Given the description of an element on the screen output the (x, y) to click on. 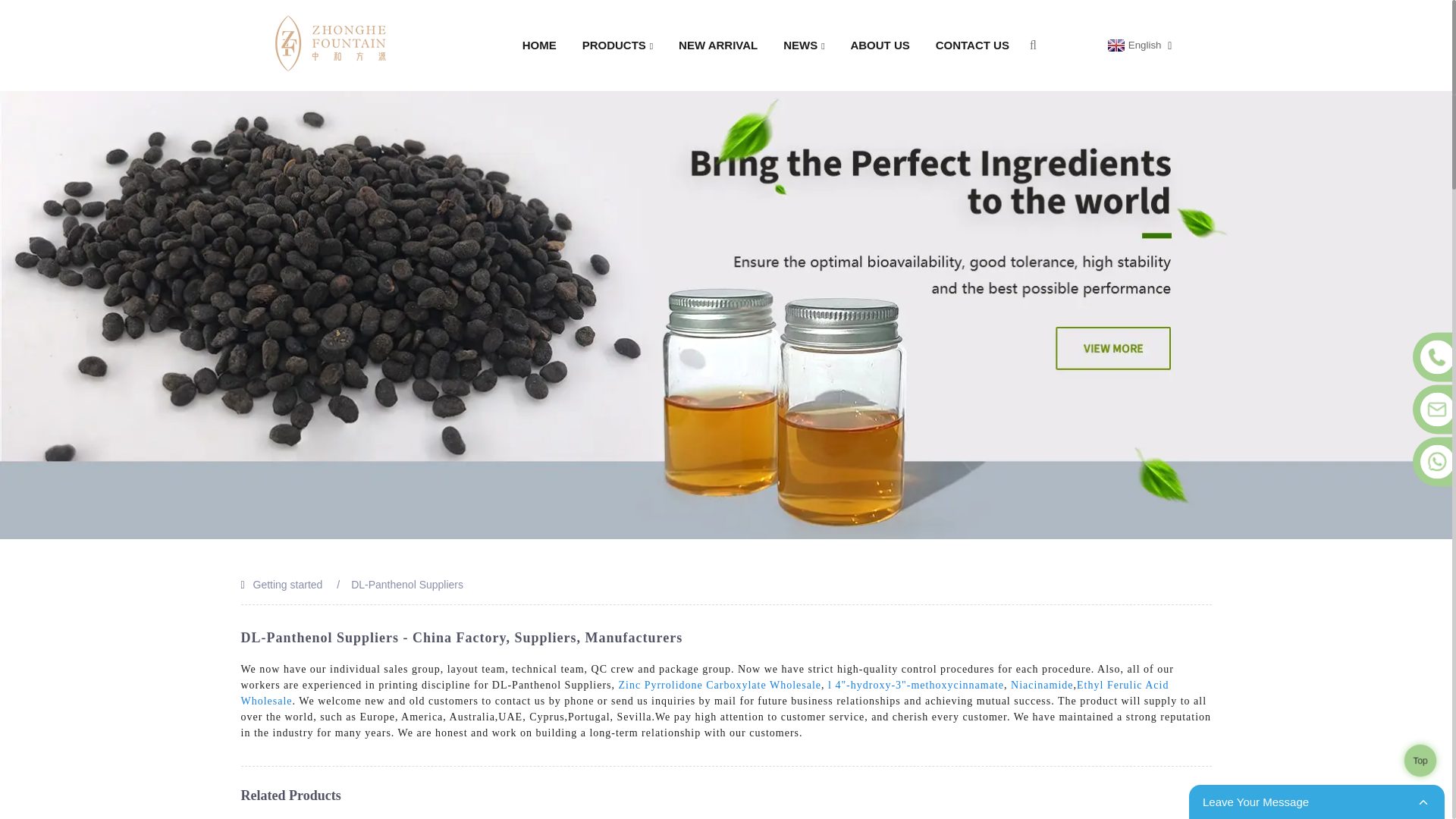
Ethyl Ferulic Acid Wholesale (705, 692)
English (1132, 45)
Niacinamide (1042, 685)
Zinc Pyrrolidone Carboxylate Wholesale (720, 685)
NEW ARRIVAL (717, 44)
Ethyl Ferulic Acid Wholesale (705, 692)
Zinc Pyrrolidone Carboxylate Wholesale (720, 685)
CONTACT US (972, 44)
PRODUCTS (617, 44)
HOME (539, 44)
l 4 (916, 685)
Niacinamide (1042, 685)
l 4"-hydroxy-3"-methoxycinnamate (916, 685)
ABOUT US (879, 44)
DL-Panthenol Suppliers (406, 584)
